Given the description of an element on the screen output the (x, y) to click on. 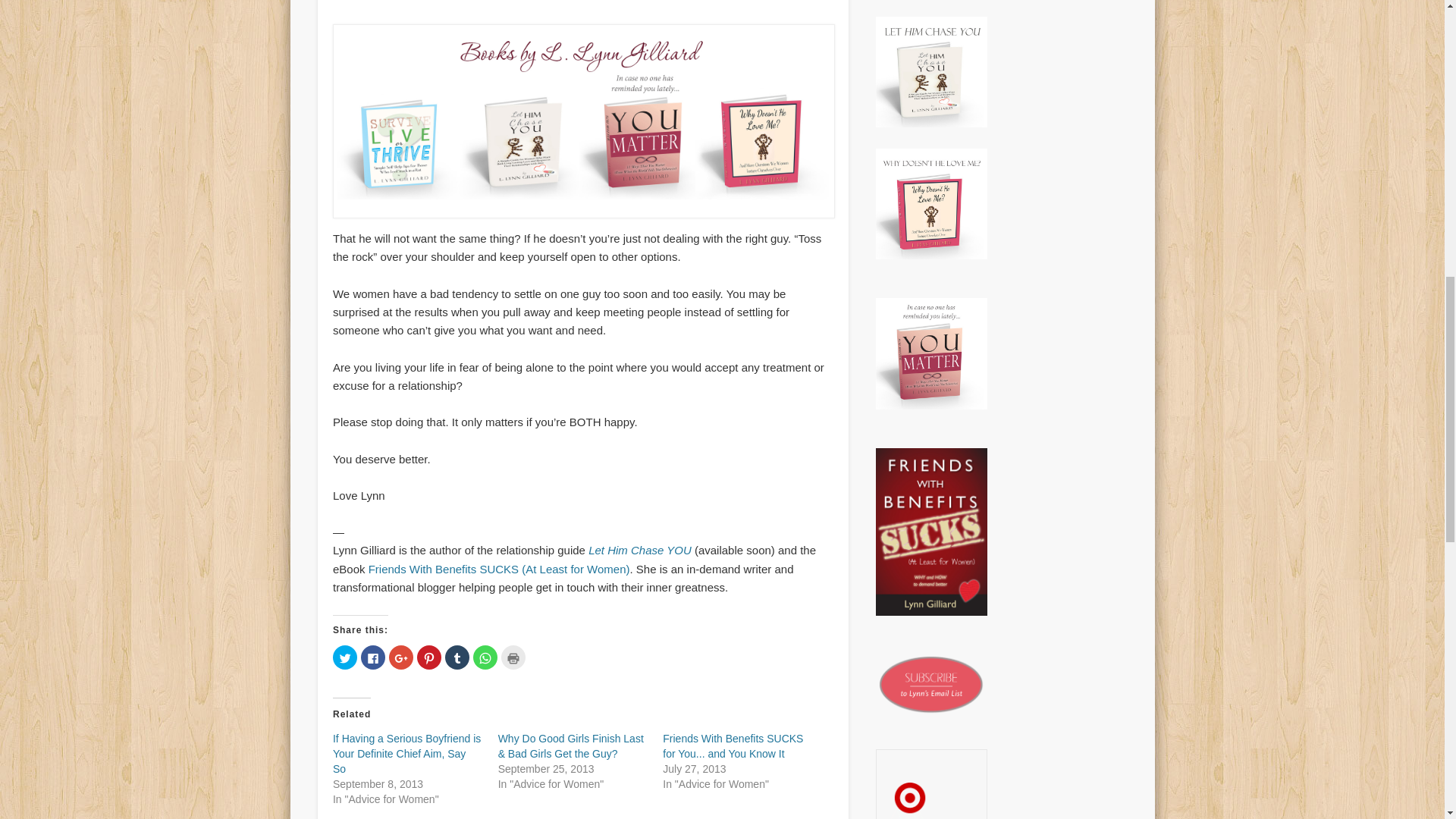
Click to share on WhatsApp (485, 657)
Click to share on Twitter (344, 657)
Click to share on Pinterest (428, 657)
Click to share on Tumblr (456, 657)
Click to print (512, 657)
Let Him Chase YOU (639, 549)
Friends With Benefits SUCKS for You... and You Know It (732, 746)
Click to share on Facebook (373, 657)
